Given the description of an element on the screen output the (x, y) to click on. 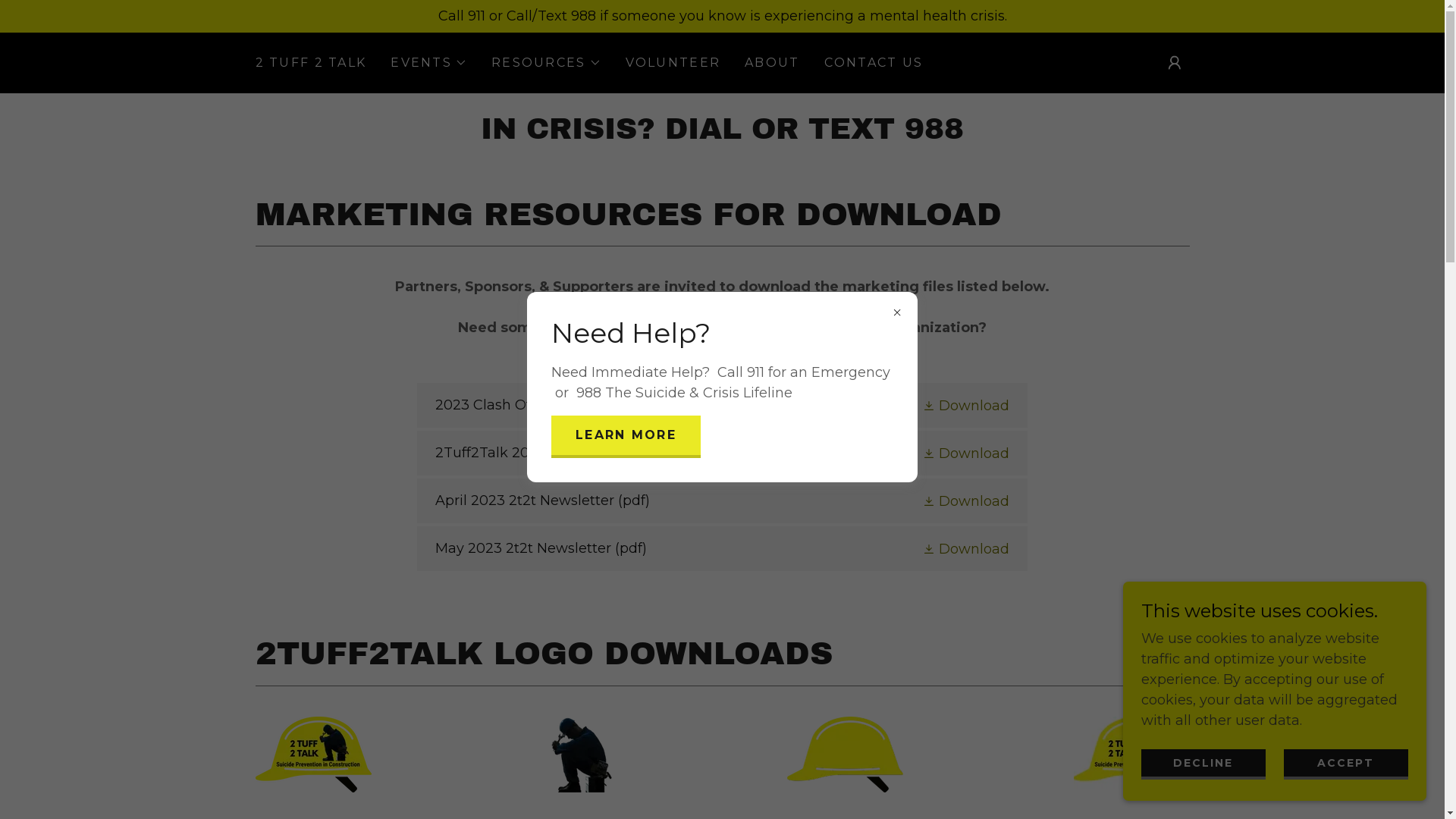
LEARN MORE Element type: text (625, 436)
RESOURCES Element type: text (546, 62)
2 TUFF 2 TALK Element type: text (310, 62)
May 2023 2t2t Newsletter (pdf)
Download Element type: text (722, 548)
2Tuff2Talk 2023 Media Kit (pdf)
Download Element type: text (722, 452)
EVENTS Element type: text (428, 62)
CONTACT US Element type: text (873, 62)
VOLUNTEER Element type: text (673, 62)
ACCEPT Element type: text (1345, 764)
ABOUT Element type: text (771, 62)
IN CRISIS? DIAL OR TEXT 988 Element type: text (721, 133)
April 2023 2t2t Newsletter (pdf)
Download Element type: text (722, 500)
2023 Clash Of the Contractors Event Packet (pdf)
Download Element type: text (722, 404)
DECLINE Element type: text (1203, 764)
